Given the description of an element on the screen output the (x, y) to click on. 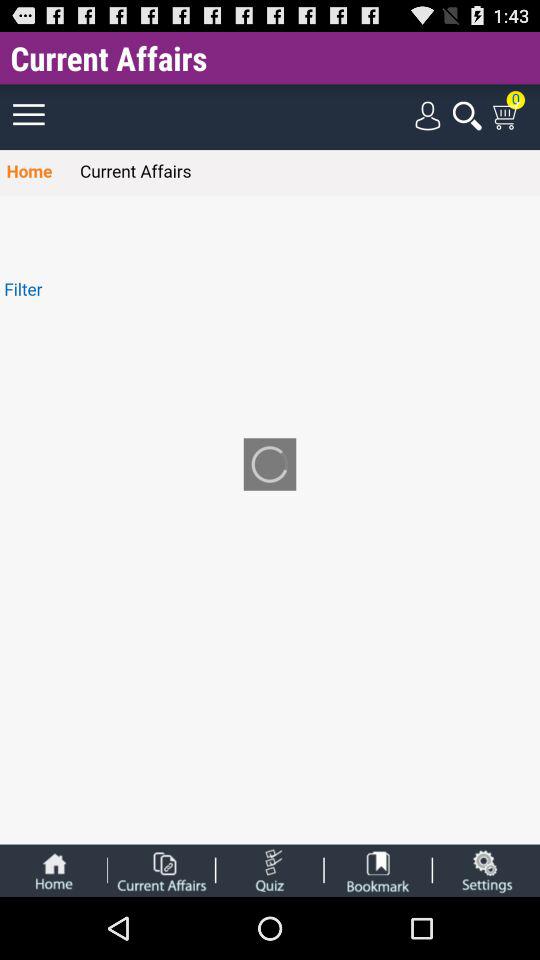
home (53, 870)
